Given the description of an element on the screen output the (x, y) to click on. 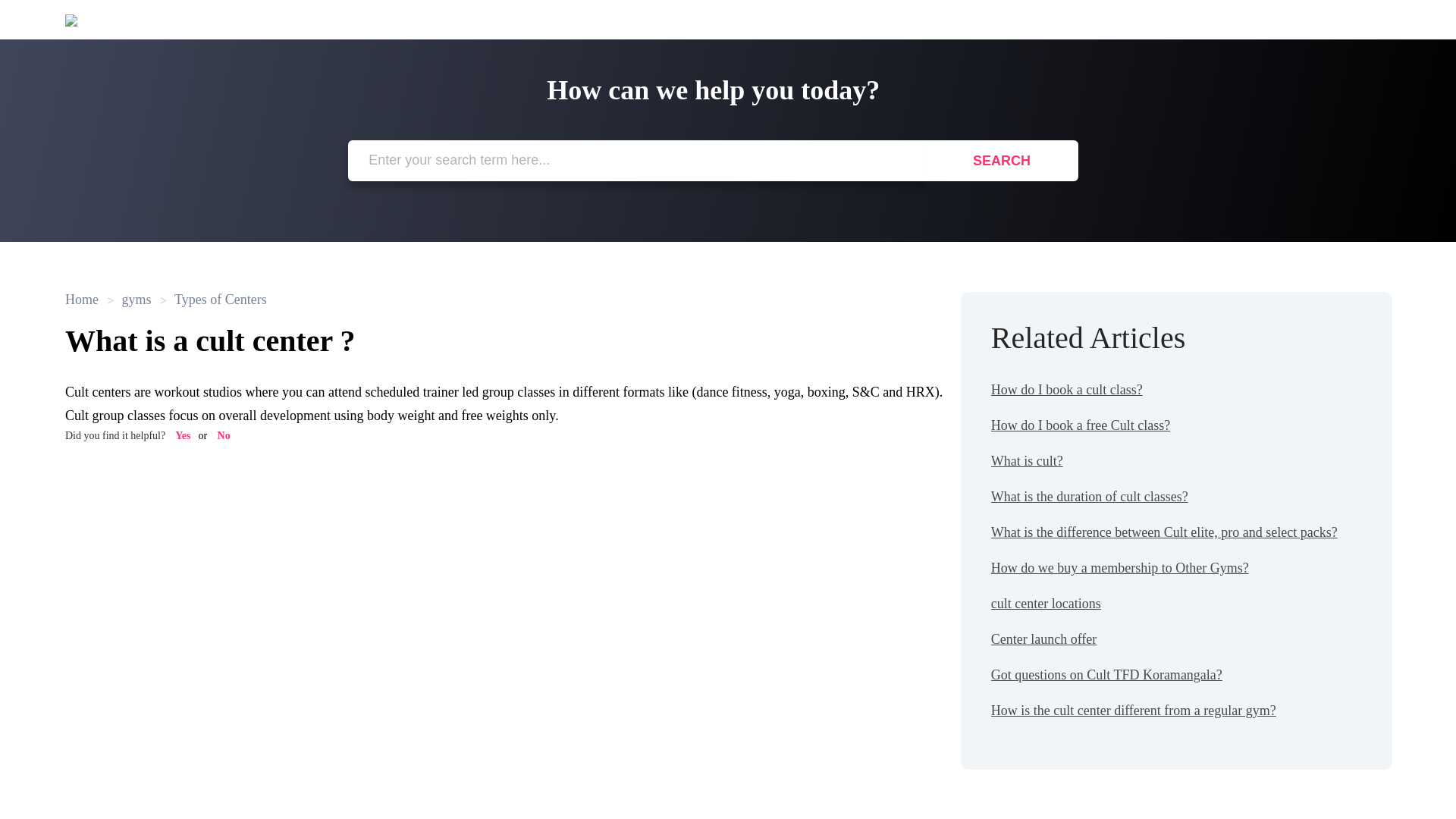
How do I book a cult class? (1066, 389)
What is the duration of cult classes? (1089, 496)
How do we buy a membership to Other Gyms? (1120, 567)
Got questions on Cult TFD Koramangala? (1107, 674)
What is cult? (1026, 460)
Types of Centers (213, 299)
cult center locations (1045, 603)
How is the cult center different from a regular gym? (1133, 710)
Center launch offer (1044, 639)
SEARCH (1001, 160)
gyms (129, 299)
How do I book a free Cult class? (1080, 425)
Home (83, 299)
